Given the description of an element on the screen output the (x, y) to click on. 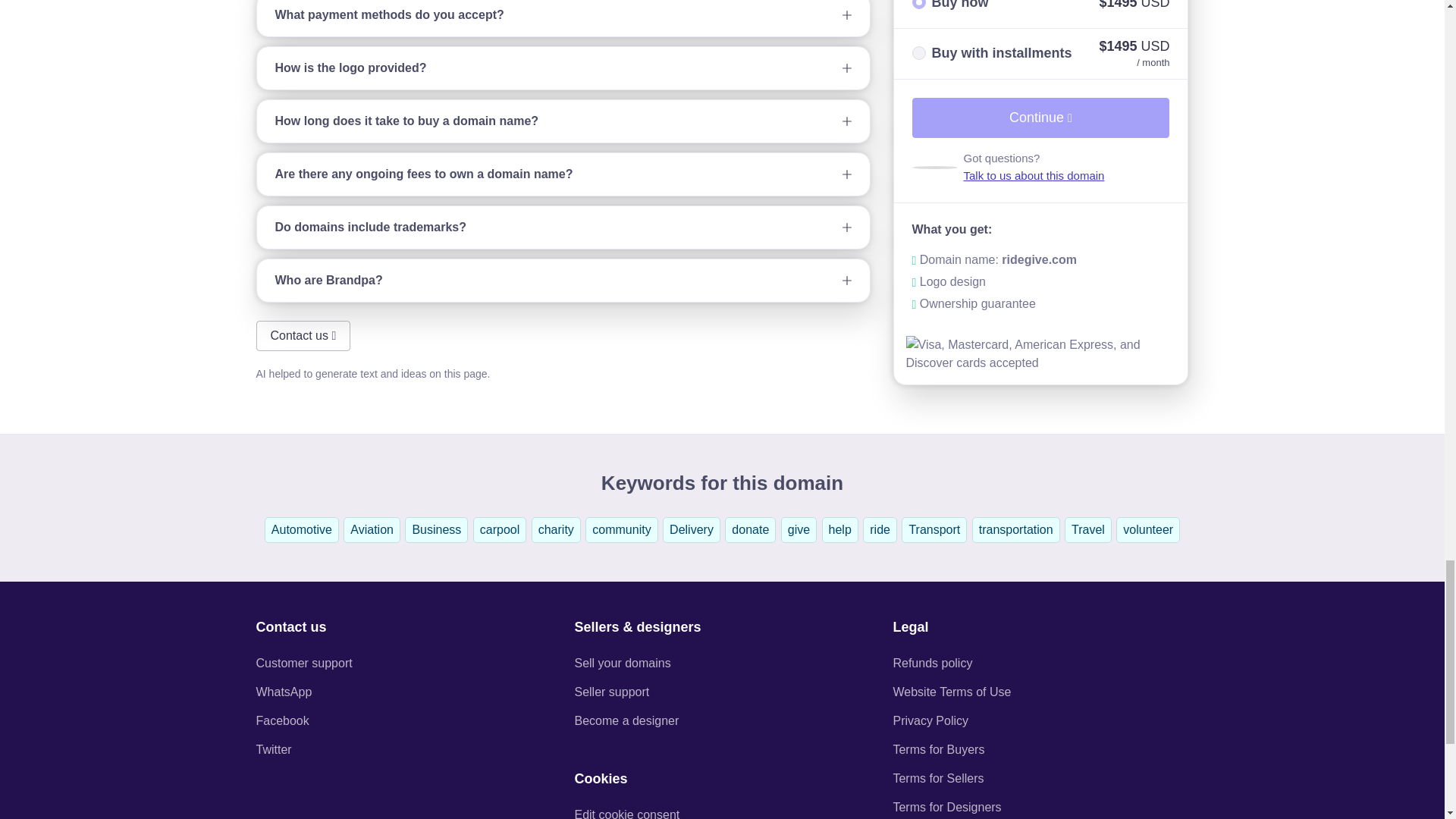
Are there any ongoing fees to own a domain name? (562, 174)
Do domains include trademarks? (562, 227)
How is the logo provided? (562, 67)
How long does it take to buy a domain name? (562, 120)
What payment methods do you accept? (562, 18)
Who are Brandpa? (562, 280)
